Given the description of an element on the screen output the (x, y) to click on. 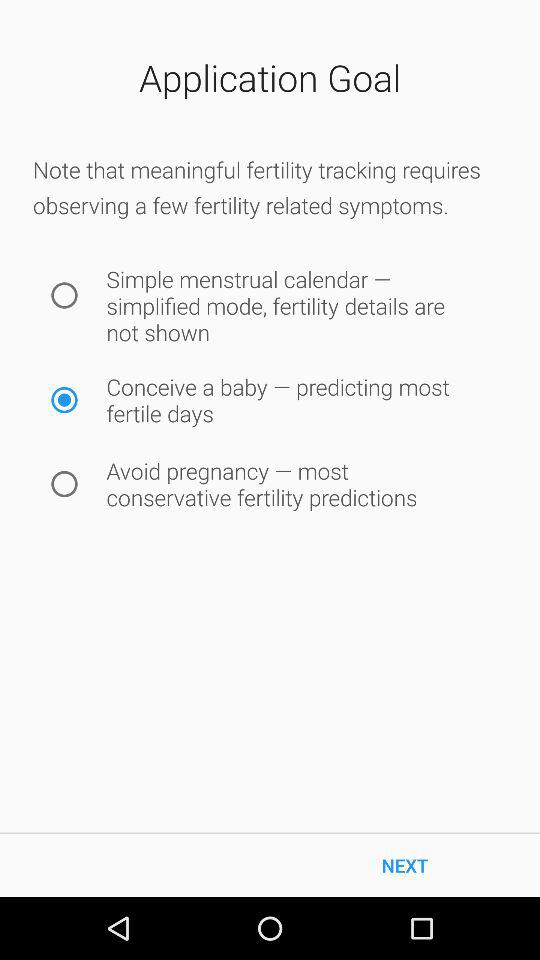
click icon next to the conceive a baby icon (64, 399)
